Given the description of an element on the screen output the (x, y) to click on. 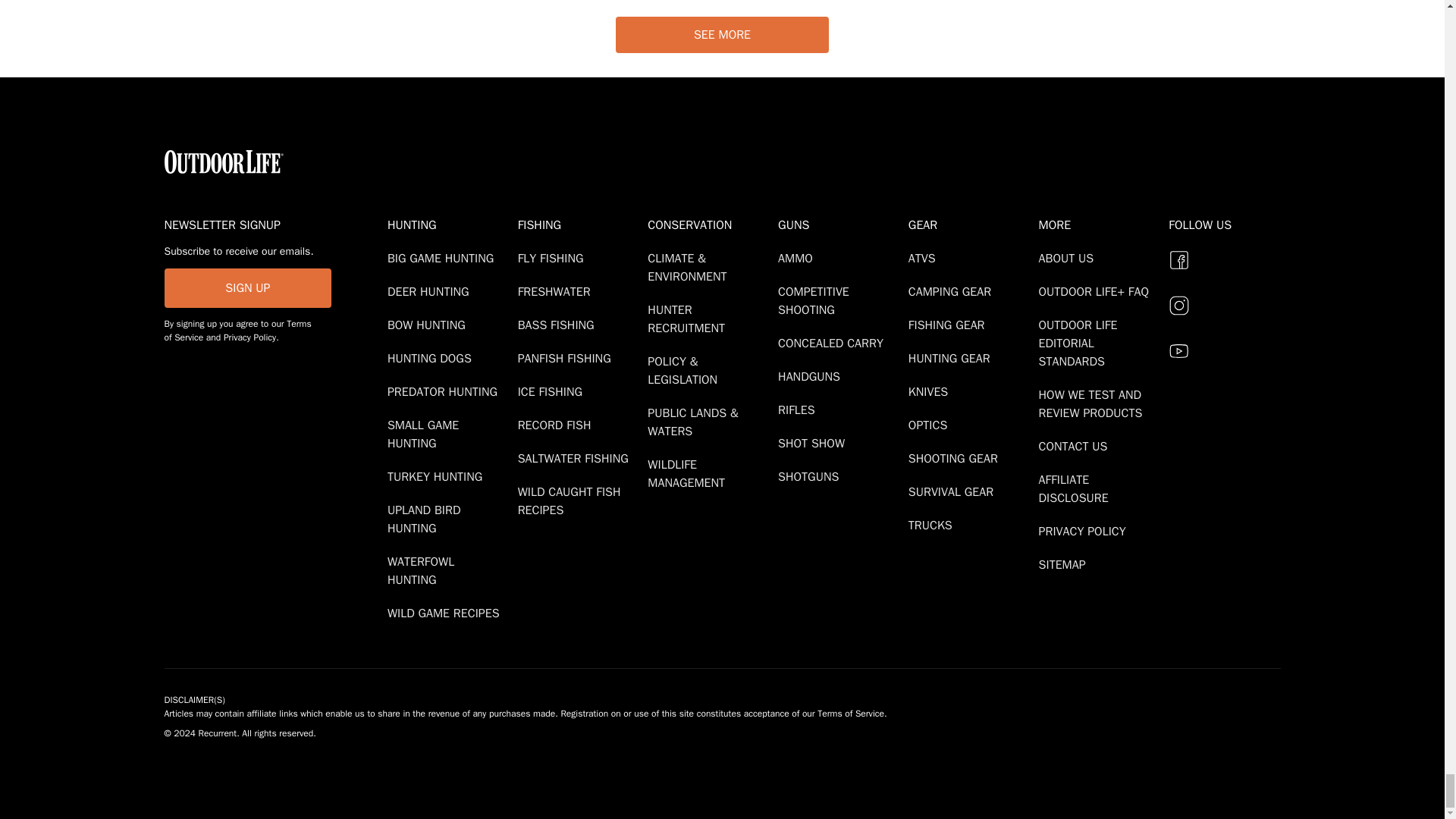
Hunting (449, 225)
Fishing (580, 225)
Fly Fishing (553, 258)
Deer Hunting (431, 291)
Big Game Hunting (443, 258)
Conservation (709, 225)
